Given the description of an element on the screen output the (x, y) to click on. 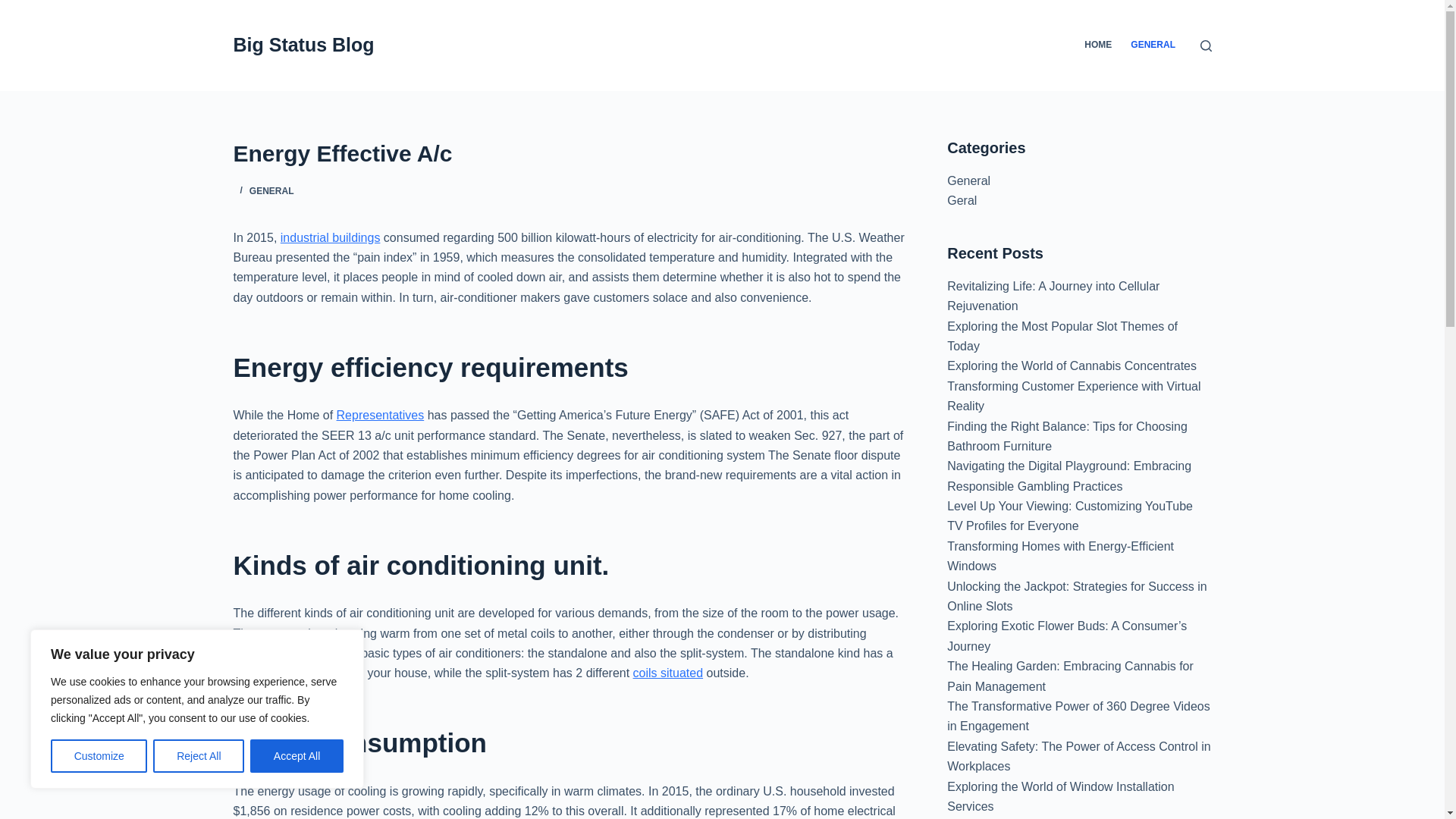
Big Status Blog (303, 44)
Customize (98, 756)
coils situated (668, 672)
Exploring the Most Popular Slot Themes of Today (1062, 336)
Exploring the World of Cannabis Concentrates (1071, 365)
Skip to content (15, 7)
Accept All (296, 756)
Revitalizing Life: A Journey into Cellular Rejuvenation (1052, 296)
industrial buildings (330, 237)
